Given the description of an element on the screen output the (x, y) to click on. 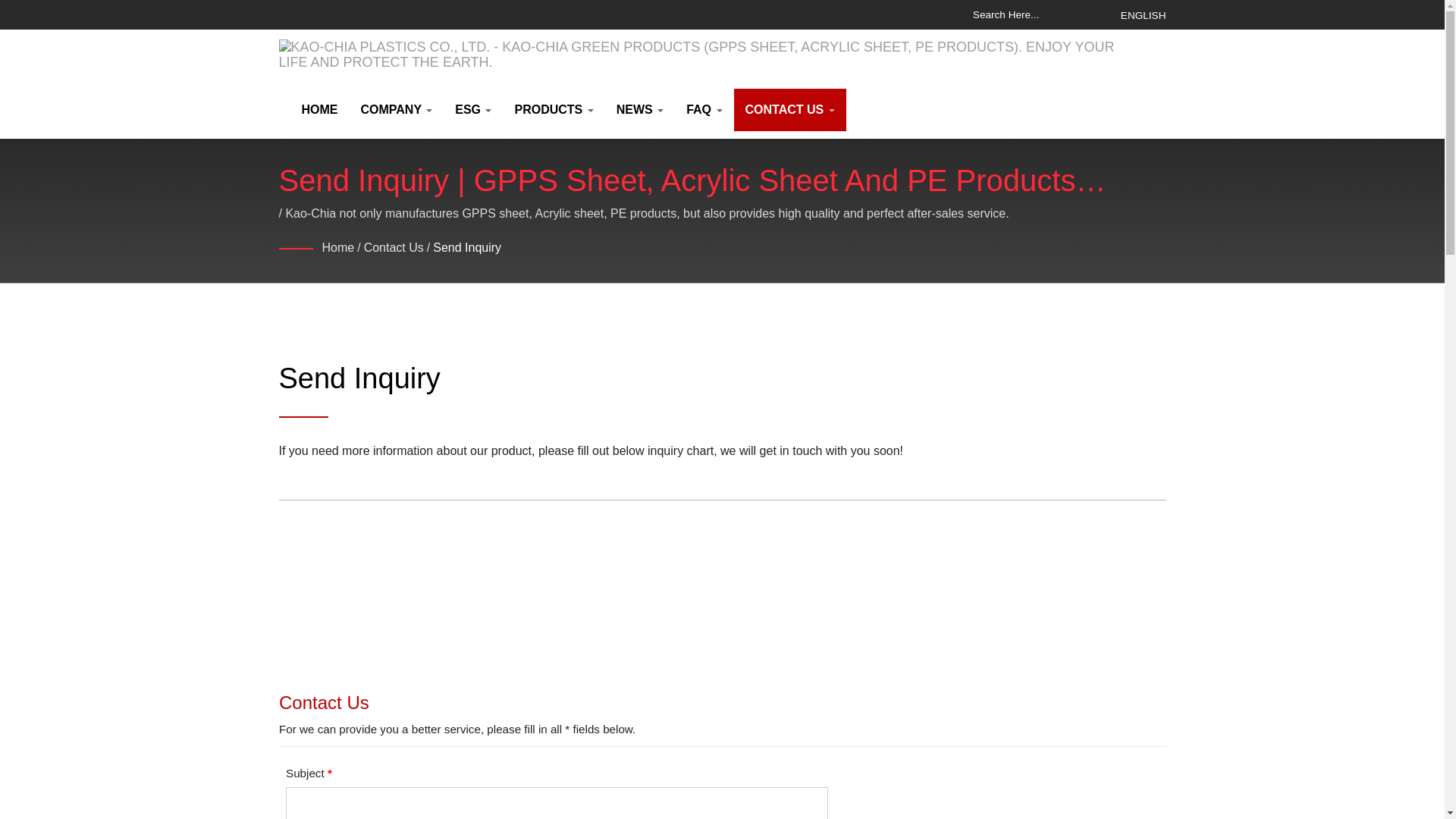
ESG (473, 109)
COMPANY (396, 109)
ENGLISH (1143, 15)
Search Here... (1037, 14)
Contact Us (722, 751)
PRODUCTS (553, 109)
Contact Us (393, 248)
HOME (319, 109)
Send inquiry (466, 248)
